Given the description of an element on the screen output the (x, y) to click on. 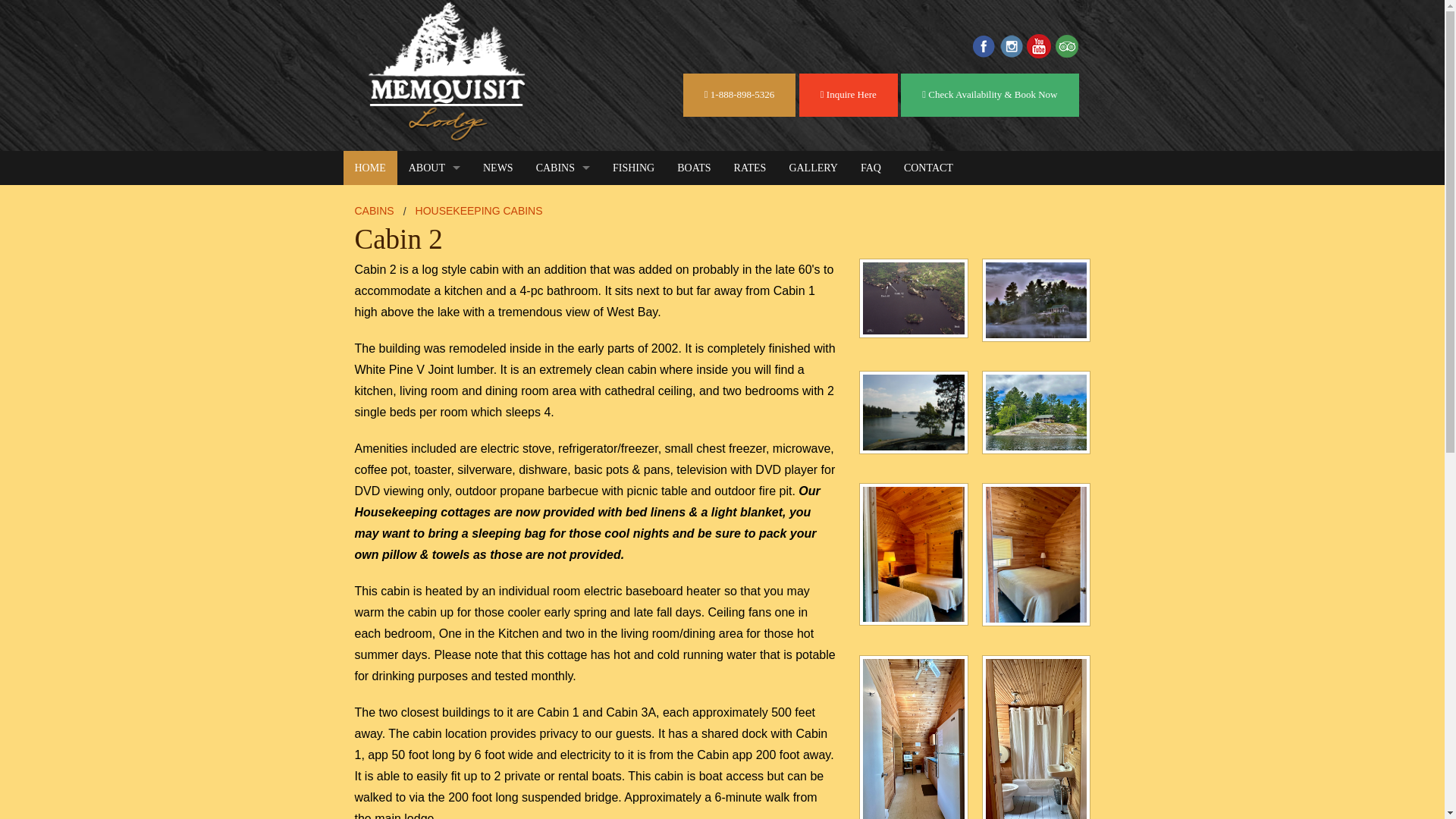
View from Deck 2 (1036, 418)
THINGS TO BRING (434, 304)
CABINS (562, 167)
1-888-898-5326 (739, 95)
CABINS (374, 210)
You Tube (1038, 46)
MEMQUISIT LODGE (434, 236)
BOATS (693, 167)
View from Deck (914, 418)
LOCATION (434, 338)
GALLERY (812, 167)
CONTACT (927, 167)
Instagram (1010, 46)
HOUSEKEEPING PLAN (562, 236)
LAKE NIPISSING (434, 202)
